Given the description of an element on the screen output the (x, y) to click on. 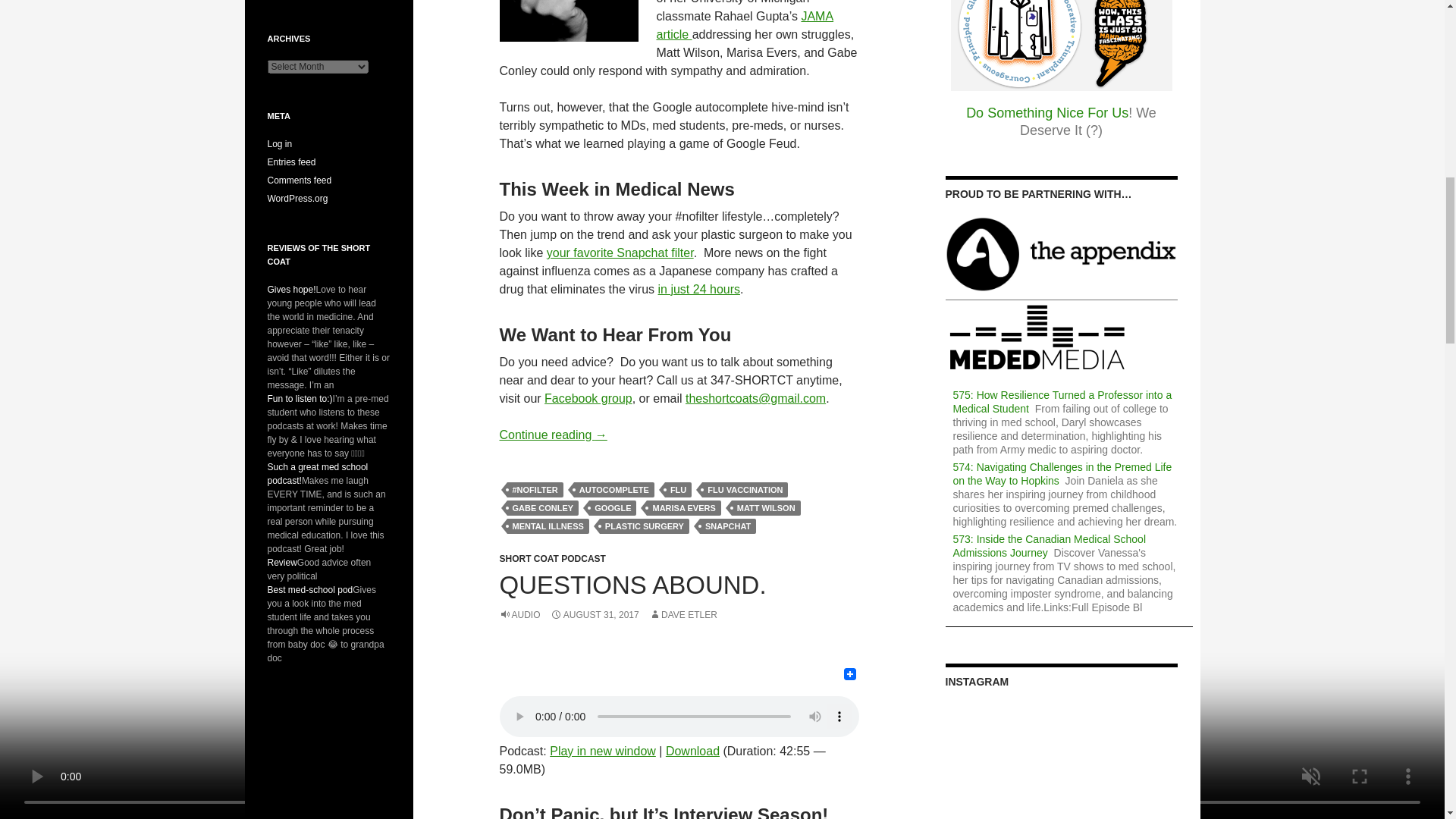
Facebook group (587, 398)
FLU (678, 489)
your favorite Snapchat filter (620, 252)
Download (692, 750)
Play in new window (603, 750)
JAMA article (745, 24)
FLU VACCINATION (744, 489)
Photo by LoganArt (568, 20)
GABE CONLEY (542, 507)
AUTOCOMPLETE (613, 489)
in just 24 hours (699, 288)
